Given the description of an element on the screen output the (x, y) to click on. 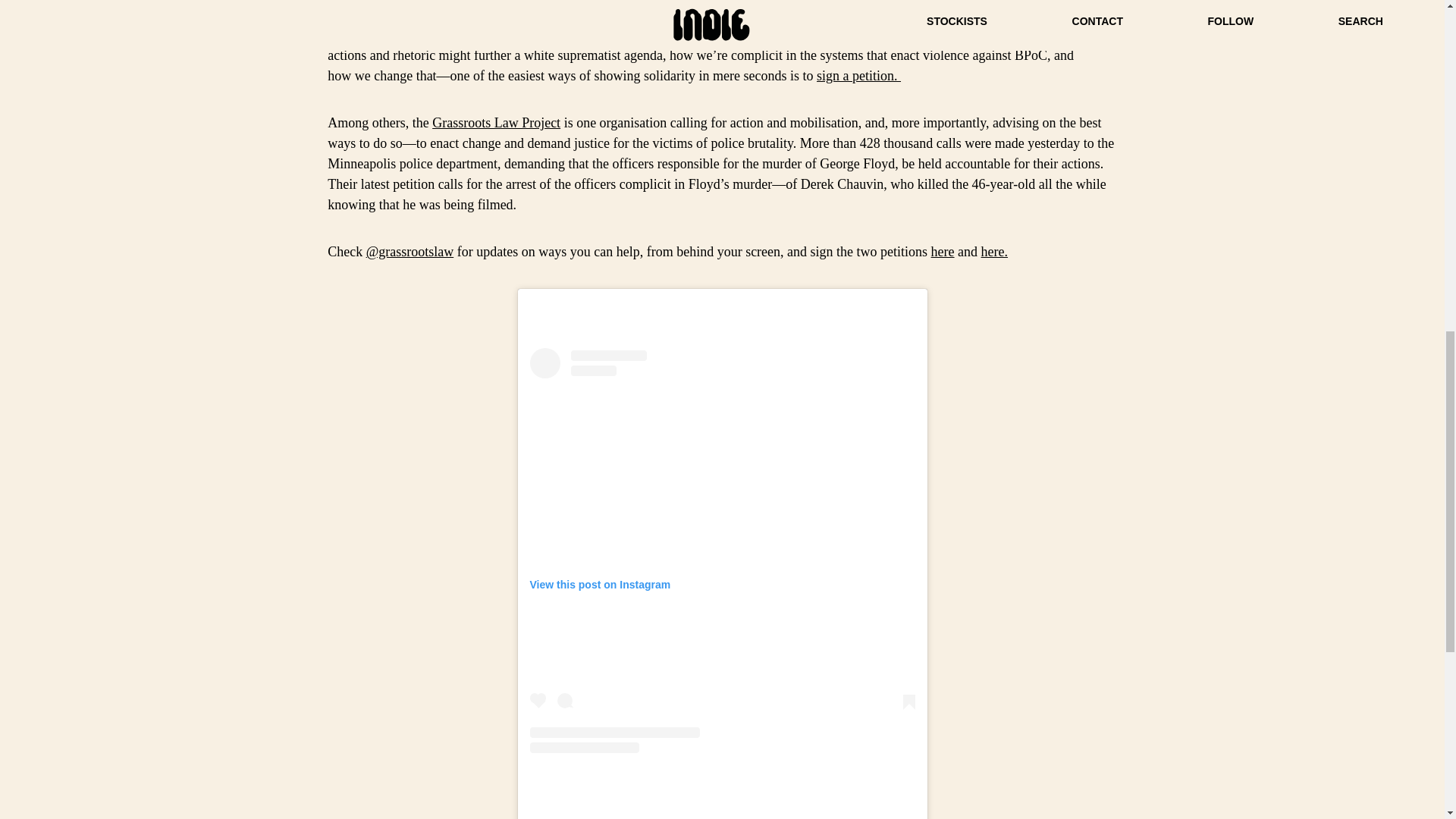
Grassroots Law Project (496, 122)
sign a petition.  (858, 75)
here. (994, 251)
here (943, 251)
